Given the description of an element on the screen output the (x, y) to click on. 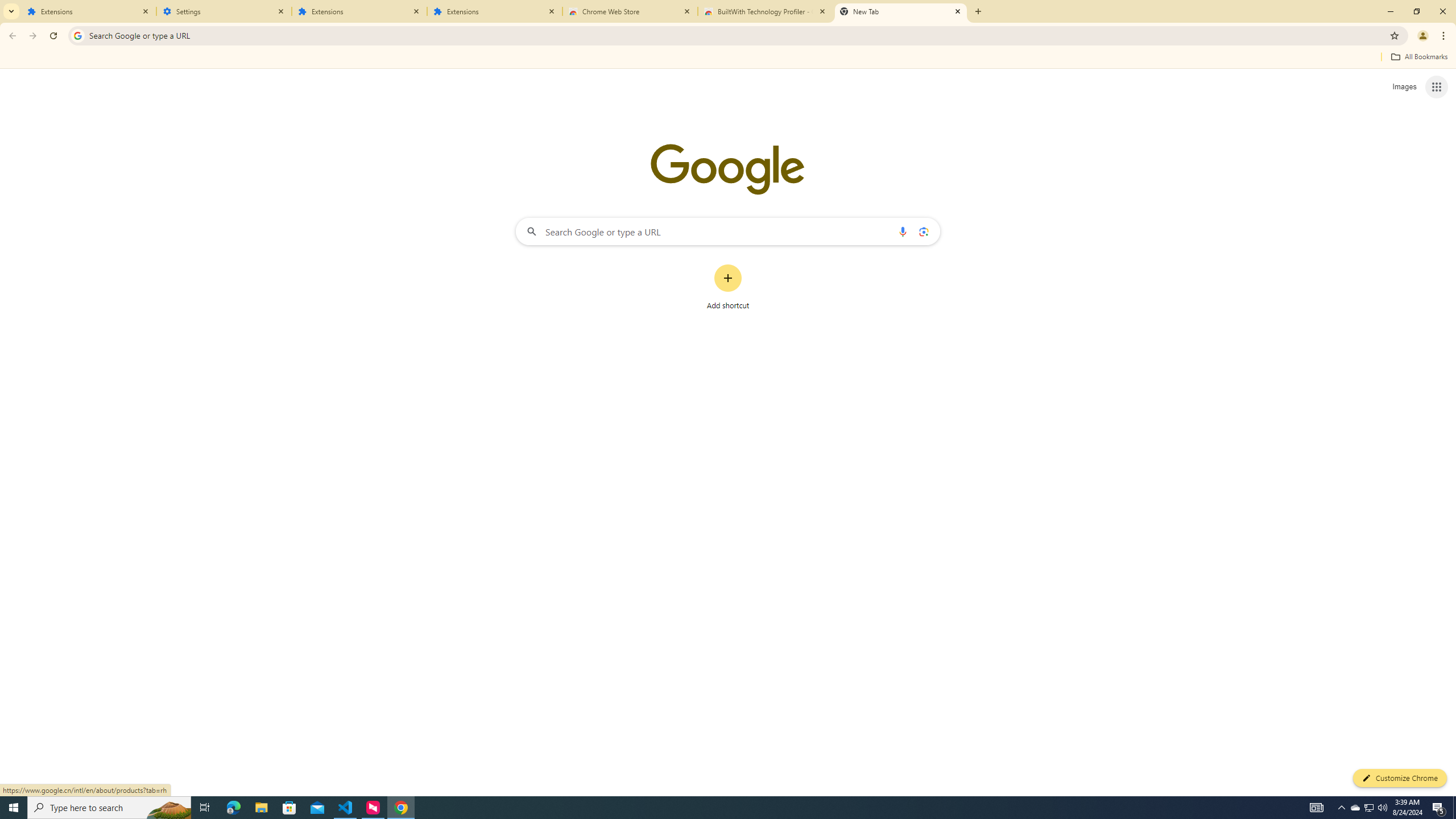
Extensions (359, 11)
